Given the description of an element on the screen output the (x, y) to click on. 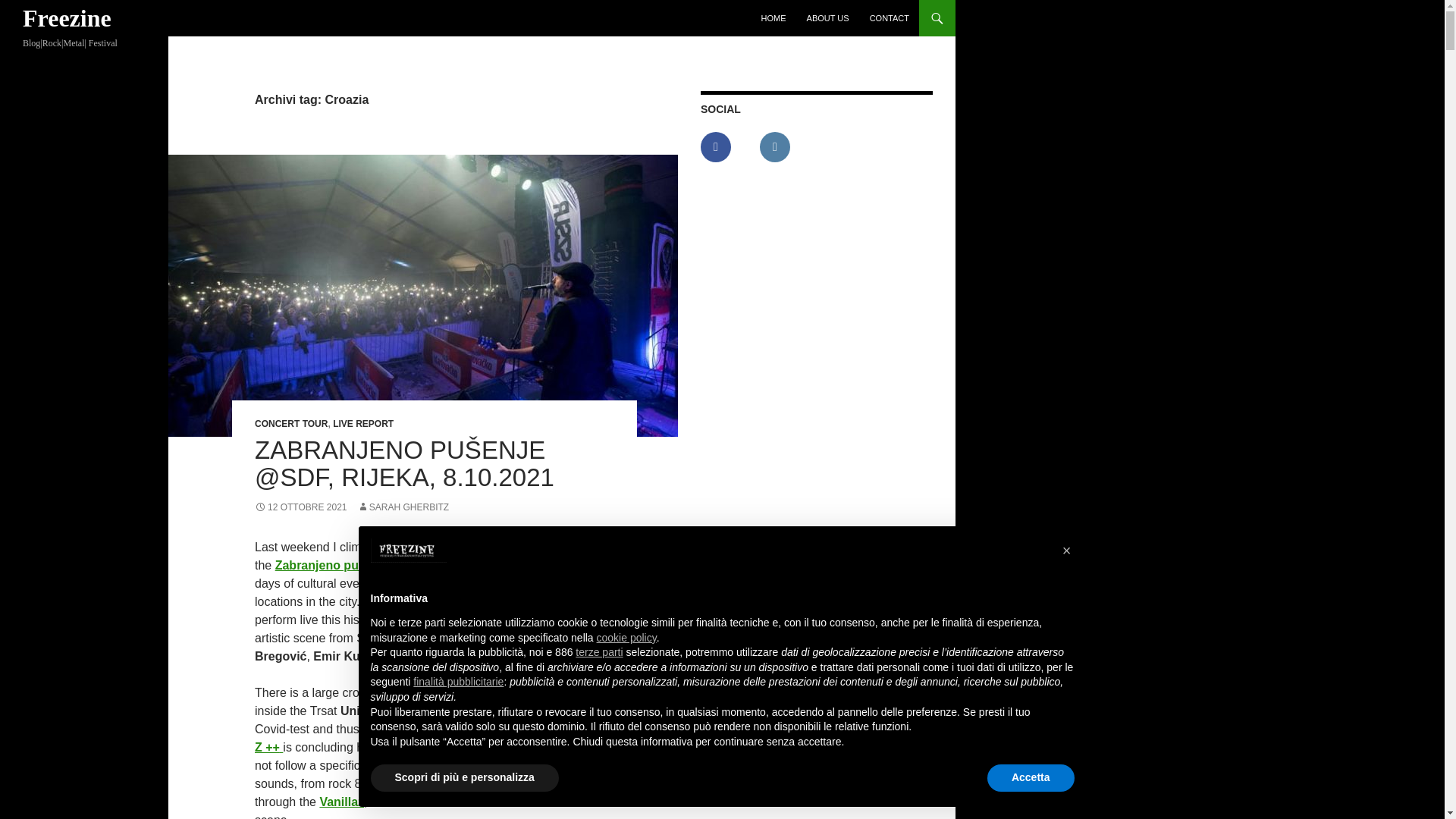
CONCERT TOUR (290, 423)
CONTACT (889, 18)
SARAH GHERBITZ (402, 507)
Student Day Festival (486, 564)
Freezine (67, 18)
12 OTTOBRE 2021 (300, 507)
ABOUT US (828, 18)
Vanillaz (341, 801)
Who See (436, 783)
LIVE REPORT (363, 423)
